Given the description of an element on the screen output the (x, y) to click on. 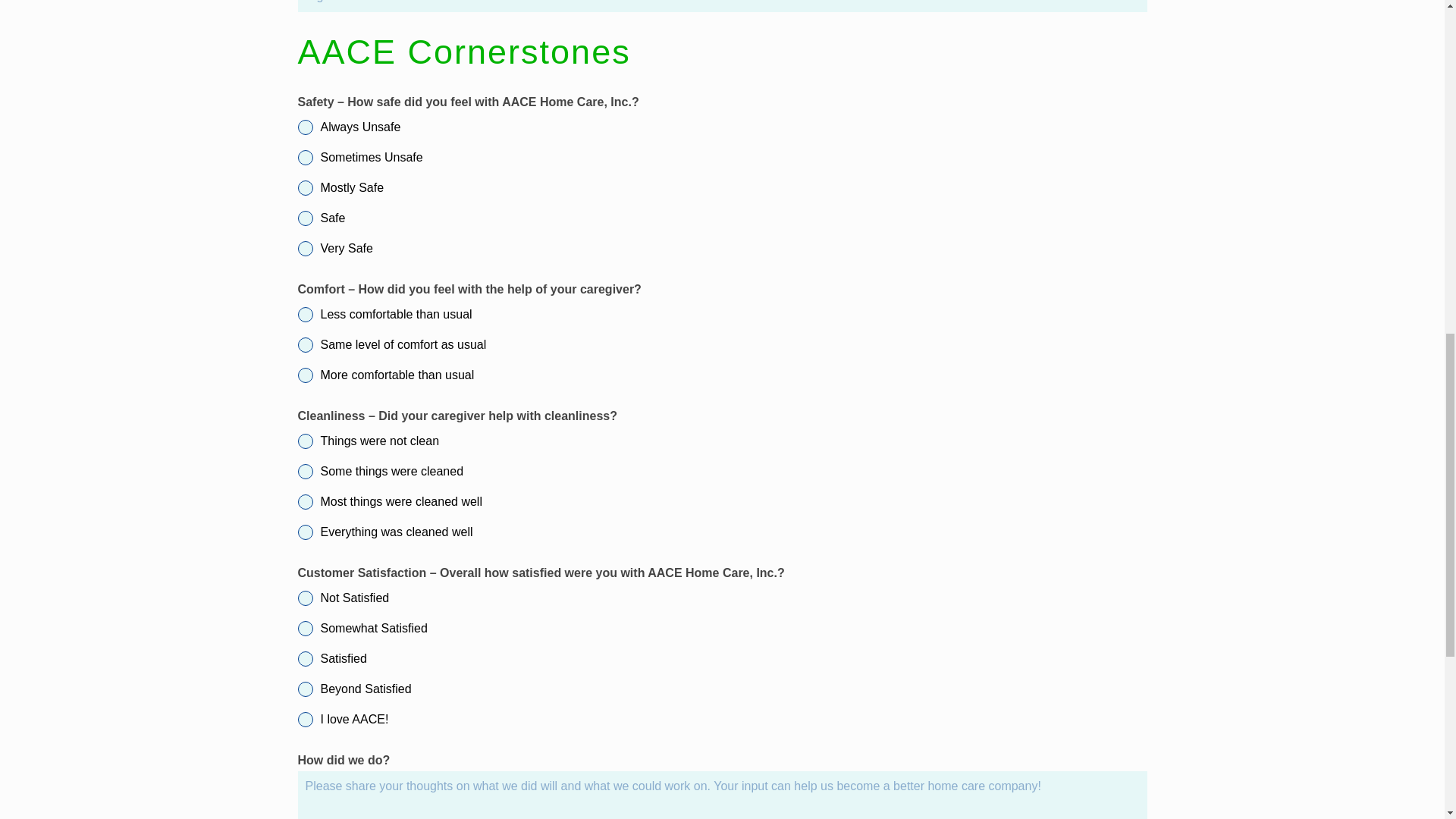
Some things were cleaned (722, 471)
More comfortable than usual (722, 375)
Mostly Safe (722, 187)
Less comfortable than usual (722, 314)
Same level of comfort as usual (722, 344)
Most things were cleaned well (722, 501)
Always Unsafe (722, 127)
